Given the description of an element on the screen output the (x, y) to click on. 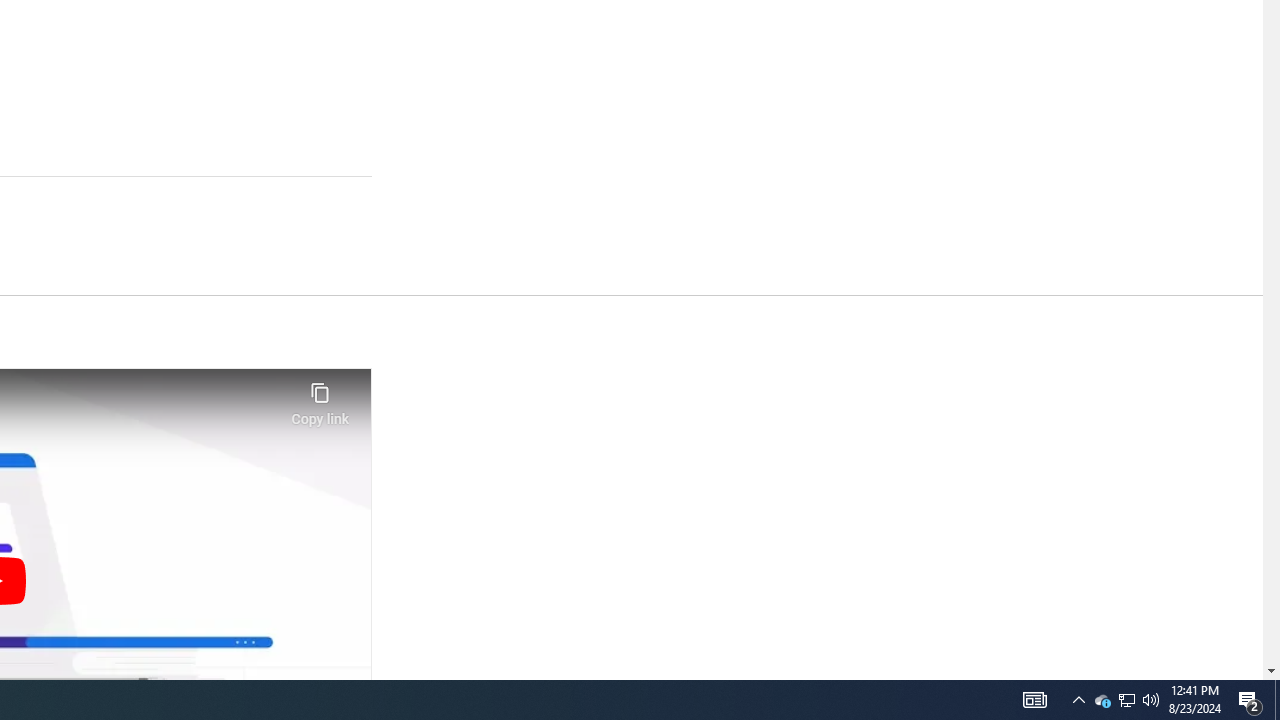
Copy link (319, 398)
